Given the description of an element on the screen output the (x, y) to click on. 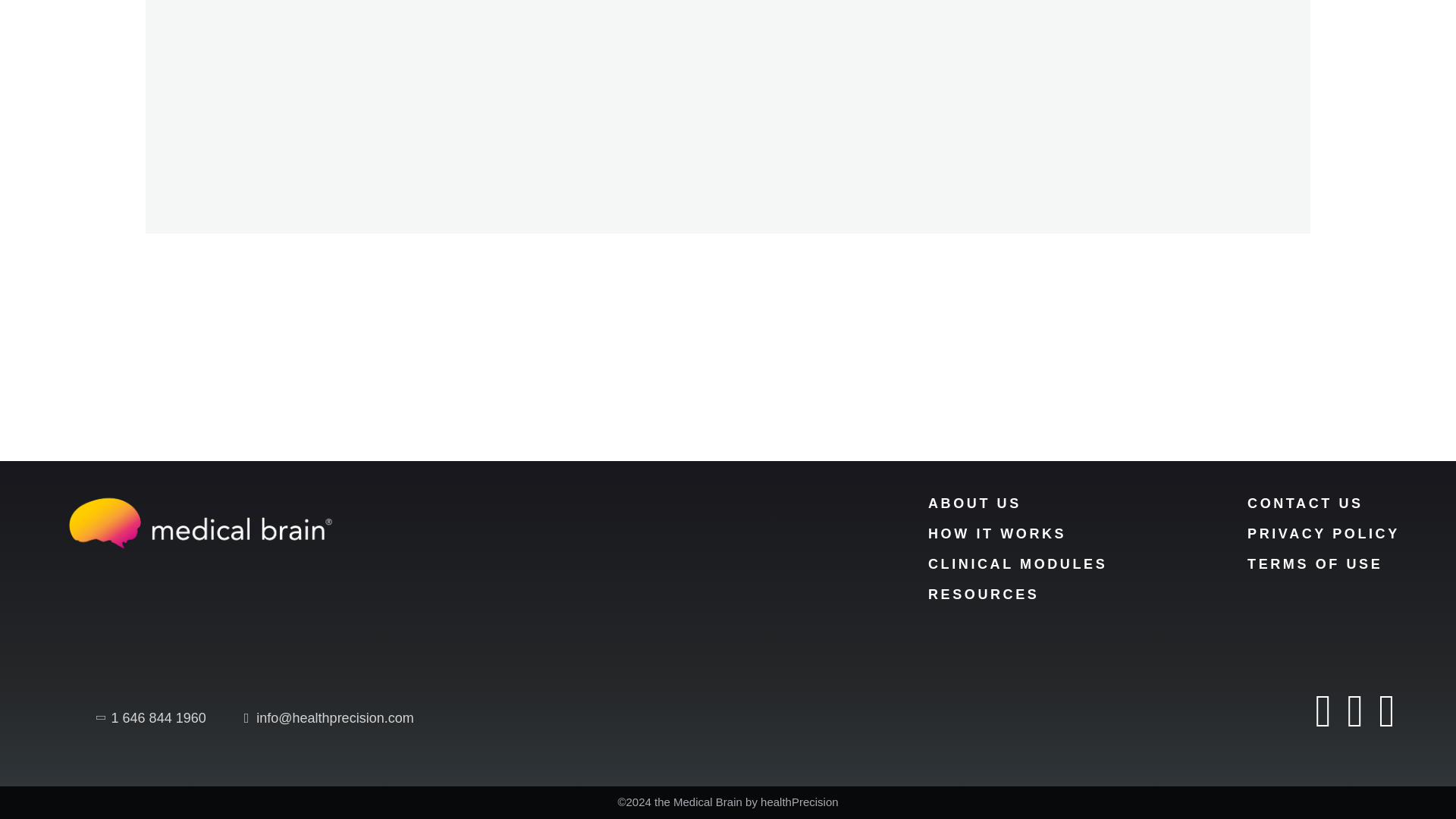
CLINICAL MODULES (1017, 563)
TERMS OF USE (1314, 563)
RESOURCES (983, 594)
1 646 844 1960 (152, 718)
PRIVACY POLICY (1323, 533)
CONTACT US (1304, 503)
ABOUT US (975, 503)
HOW IT WORKS (996, 533)
